Given the description of an element on the screen output the (x, y) to click on. 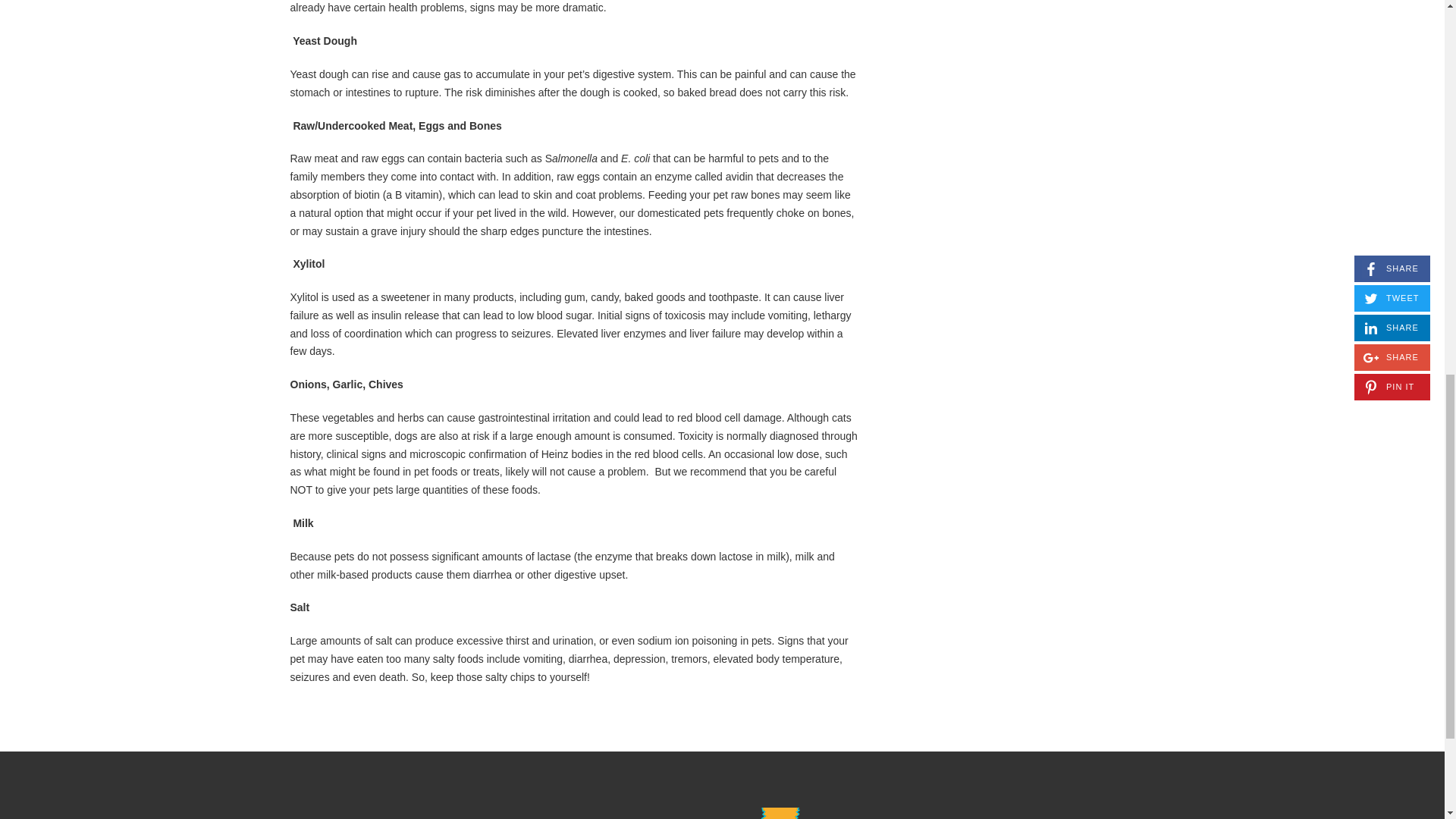
Commerce Village Veterinary Hospital (716, 813)
